Given the description of an element on the screen output the (x, y) to click on. 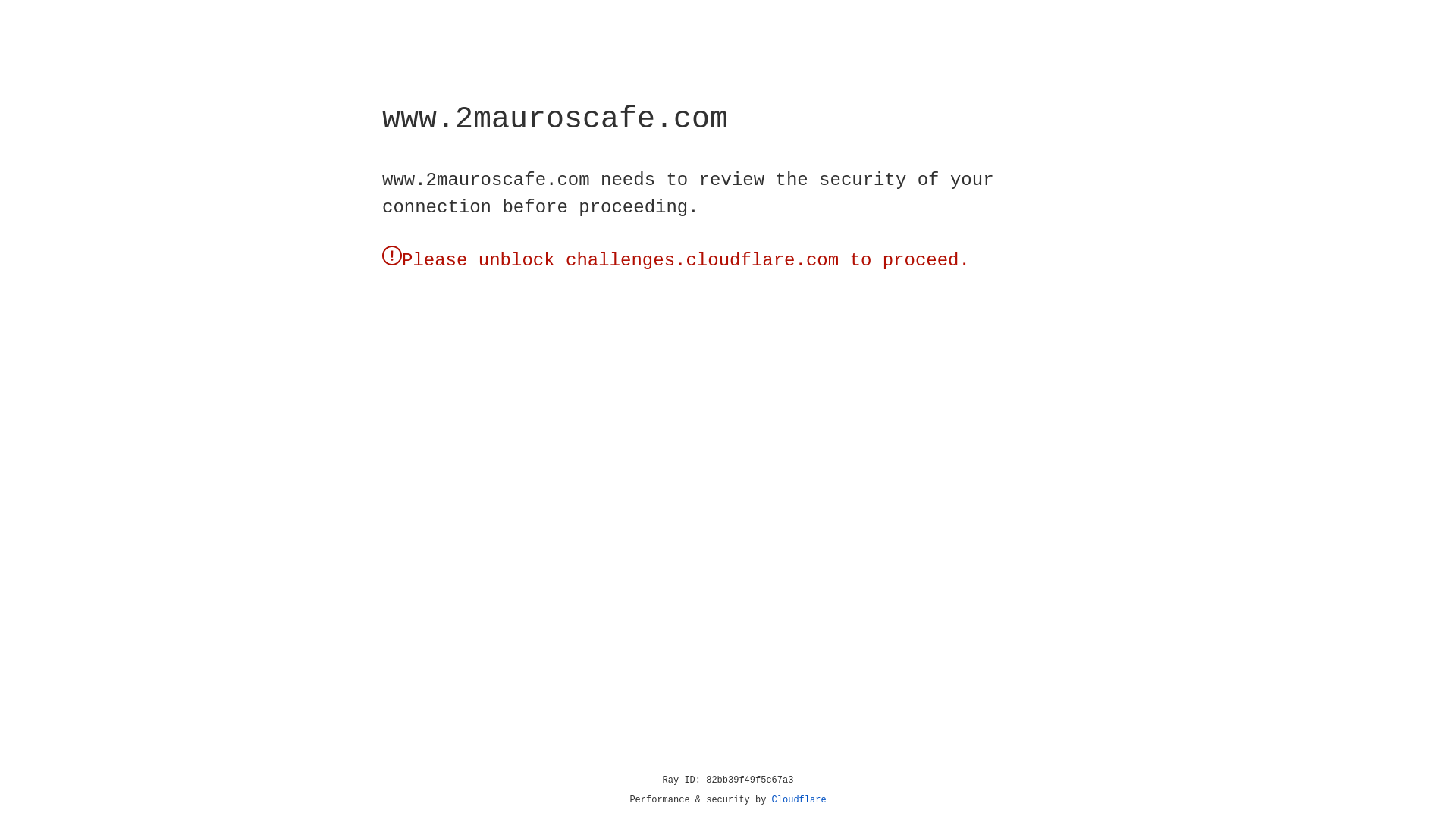
Cloudflare Element type: text (798, 799)
